Given the description of an element on the screen output the (x, y) to click on. 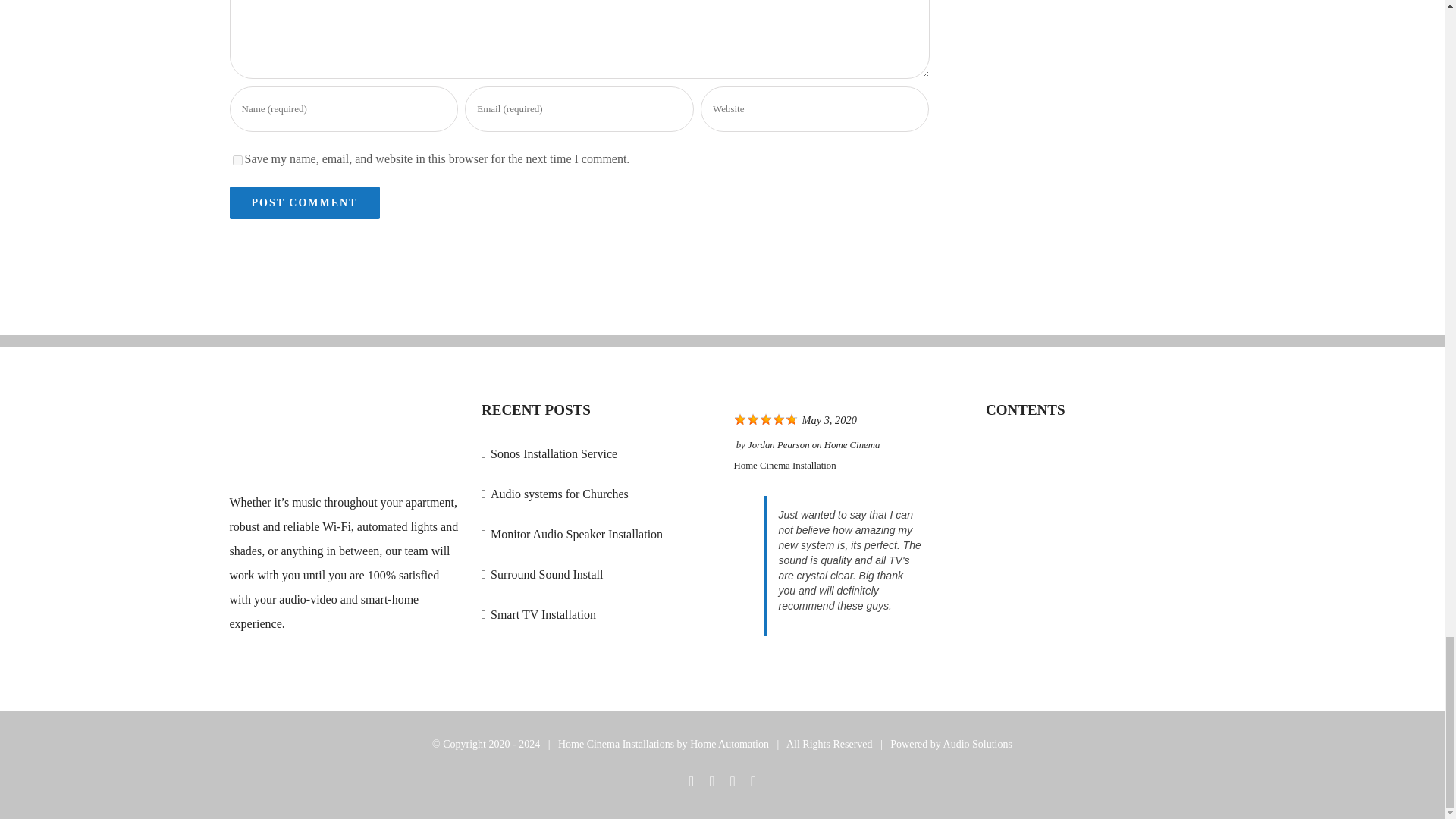
Post Comment (303, 202)
Facebook (691, 780)
Instagram (732, 780)
yes (236, 160)
Post Comment (303, 202)
Twitter (711, 780)
YouTube (753, 780)
